Given the description of an element on the screen output the (x, y) to click on. 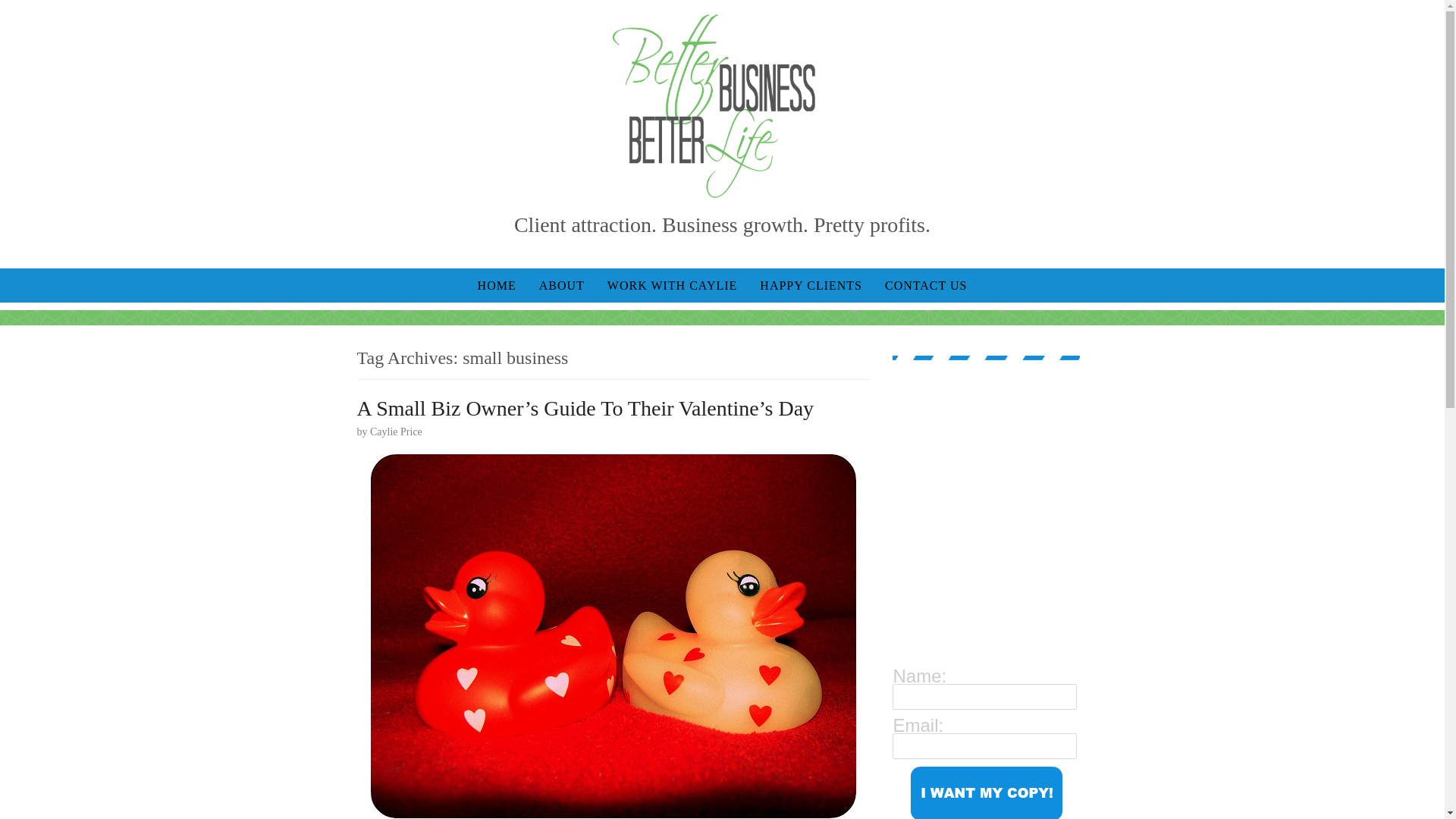
Caylie Price (395, 431)
CONTACT US (925, 285)
HAPPY CLIENTS (810, 285)
HOME (496, 285)
Search (23, 10)
ABOUT (561, 285)
WORK WITH CAYLIE (672, 285)
View all posts by Caylie Price (395, 431)
